Given the description of an element on the screen output the (x, y) to click on. 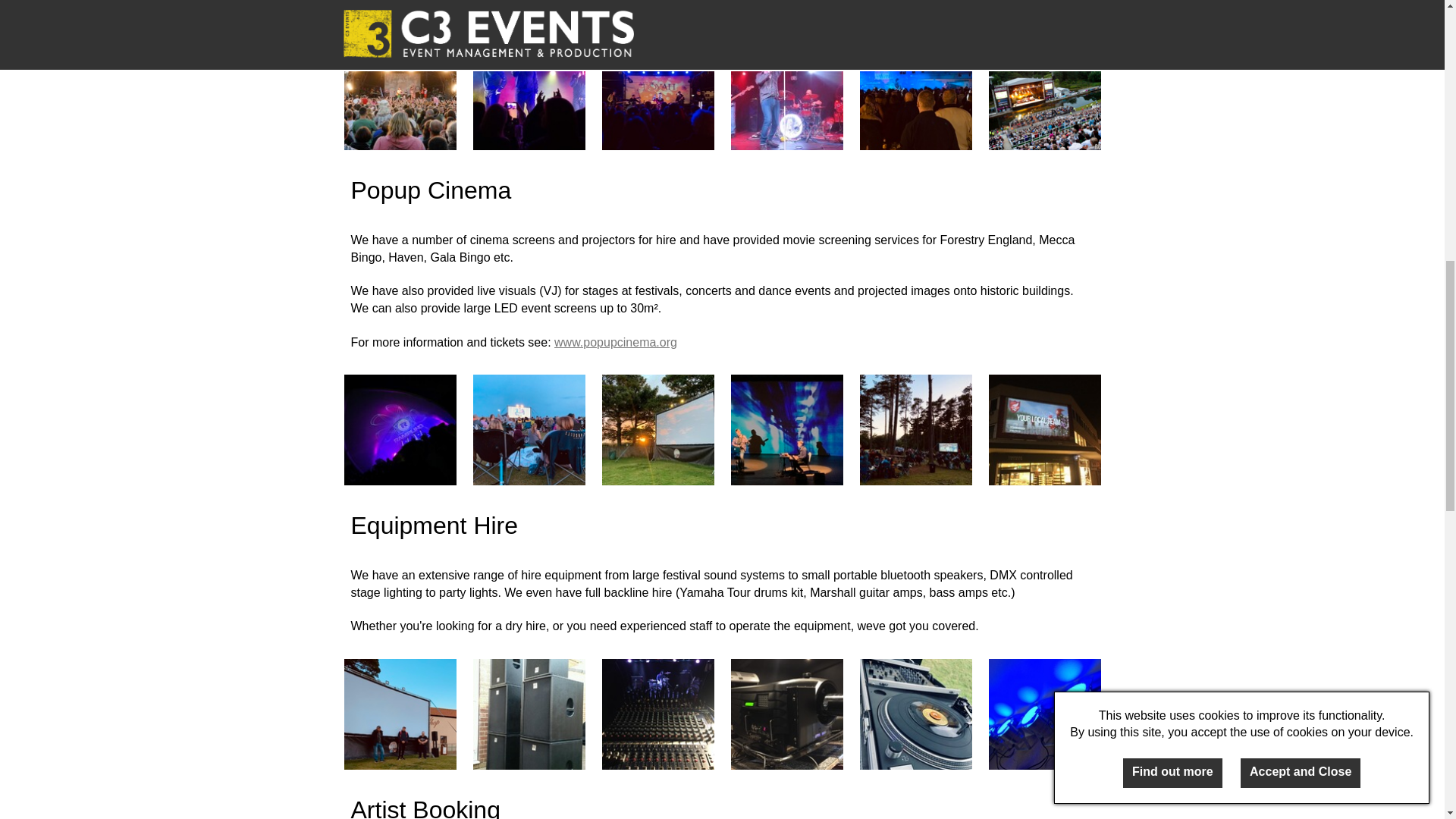
East 17 - Scarborough Market Hall (529, 94)
Popup Cinema Yorkshire Website (615, 341)
Outdoor Cinema at Haven, Thornwick Bay (529, 429)
Outdoor Cinema at Dalby Forest, Pickering (916, 429)
Toyah - Scarborough Market Hall (658, 94)
The Smiths Utd - Vibe Bar, Scarborough (786, 94)
Outdoor Cinema at Redcliffe Farm, Lebberston (658, 429)
On stage projections at Musicport Festival, Whitby (786, 429)
The Hoosiers - Beached Festival, Scarborough (400, 94)
Big screen in Scarborough Town Centre (1044, 429)
www.popupcinema.org (615, 341)
Status Quo - Scarborough Open Air Theatre (1044, 94)
Bay City Rollers - Scarborough Market Hall (916, 94)
